Given the description of an element on the screen output the (x, y) to click on. 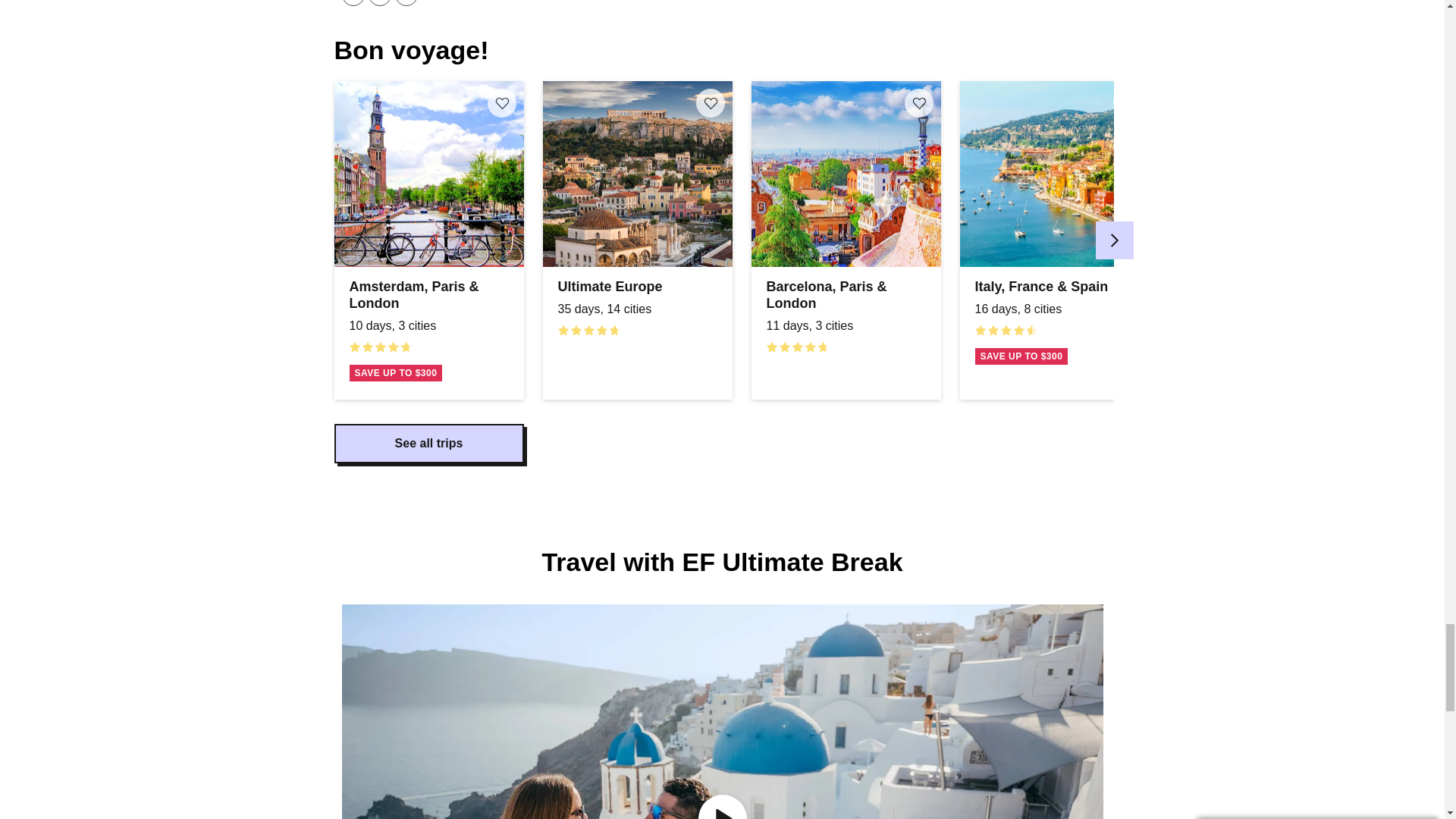
See all trips (427, 443)
